Given the description of an element on the screen output the (x, y) to click on. 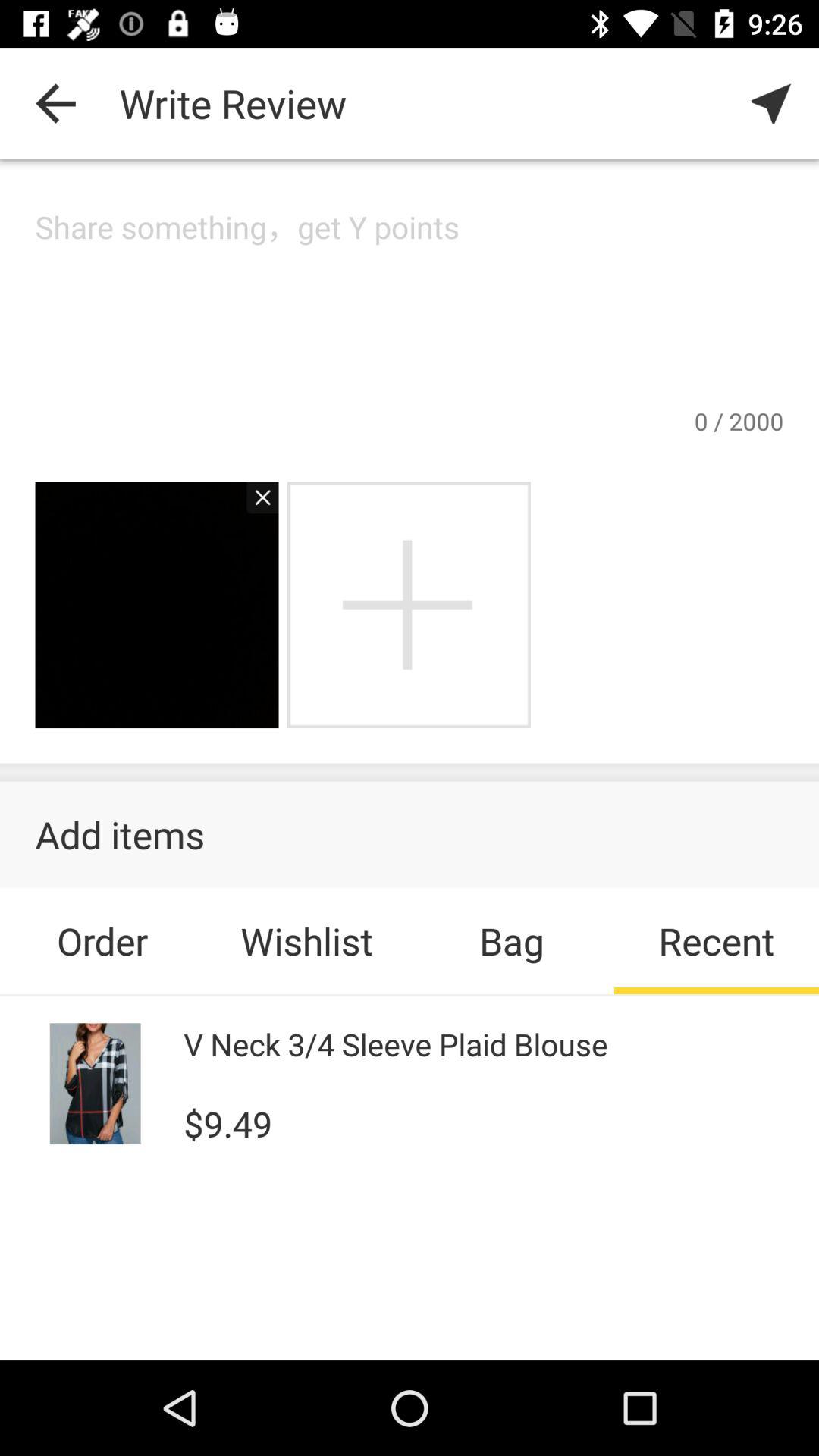
delete picture (254, 505)
